Given the description of an element on the screen output the (x, y) to click on. 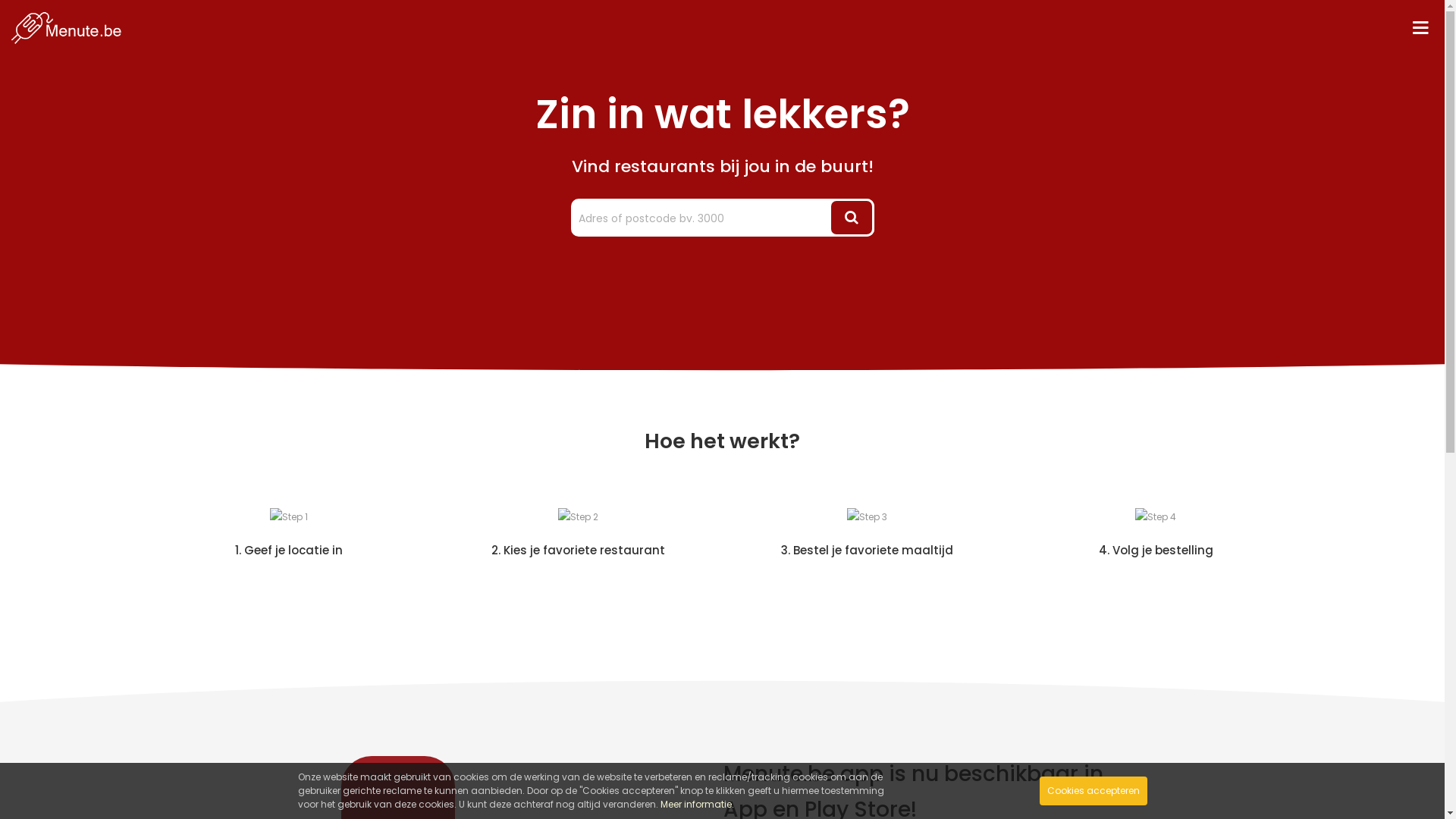
Meer informatie. Element type: text (696, 803)
Step 4 Element type: hover (1155, 517)
Step 3 Element type: hover (866, 517)
Cookies accepteren Element type: text (1092, 790)
Step 2 Element type: hover (578, 517)
Step 1 Element type: hover (288, 517)
